Given the description of an element on the screen output the (x, y) to click on. 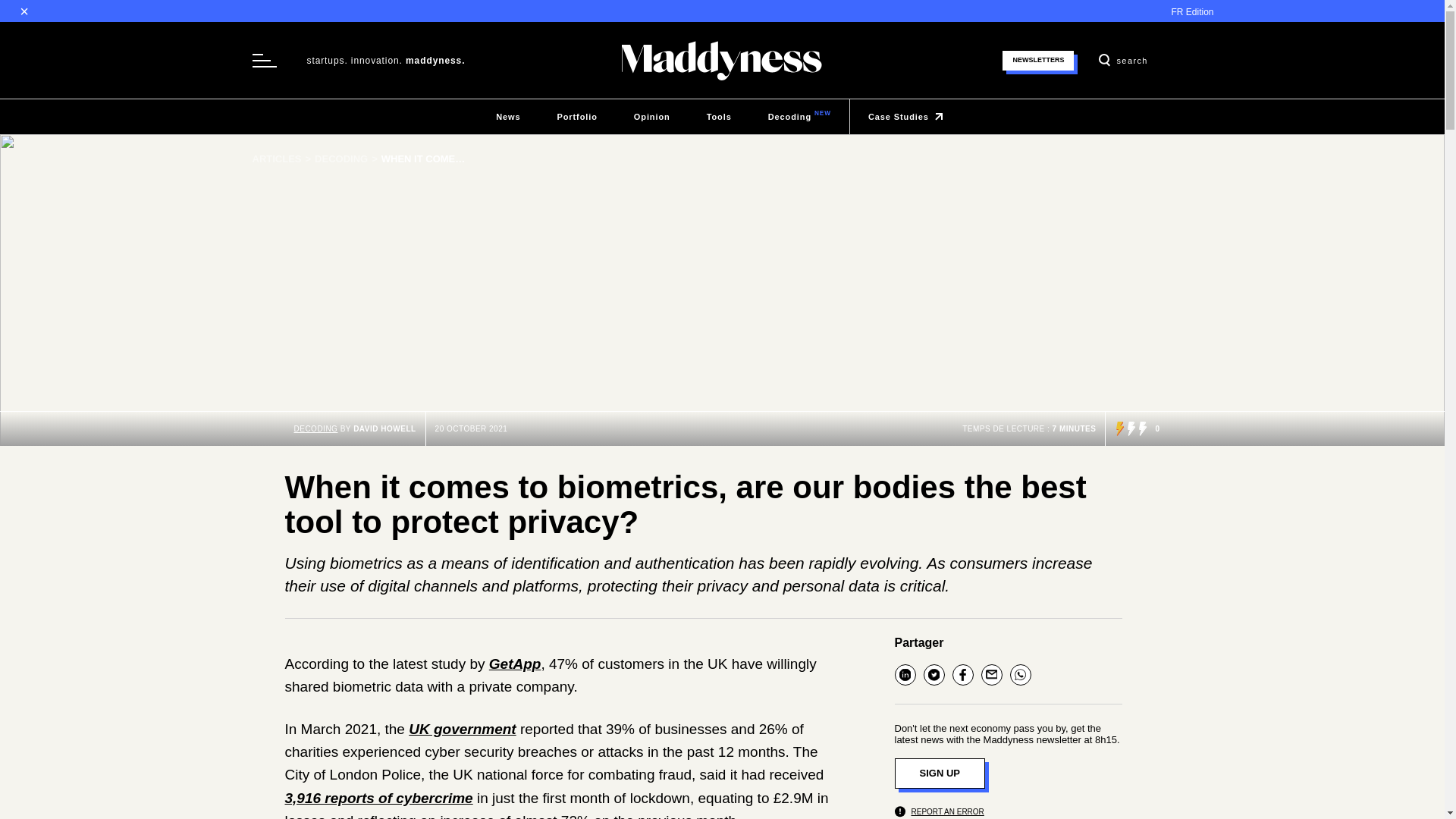
FR Edition (1191, 10)
NEWSLETTERS (1038, 59)
Tools (718, 116)
UK government (462, 729)
Tools (718, 116)
Decoding (798, 116)
News (798, 116)
Portfolio (507, 116)
Opinion (576, 116)
DECODING (651, 116)
Case studies (315, 429)
ARTICLES (908, 116)
News (282, 159)
Case Studies (507, 116)
